Given the description of an element on the screen output the (x, y) to click on. 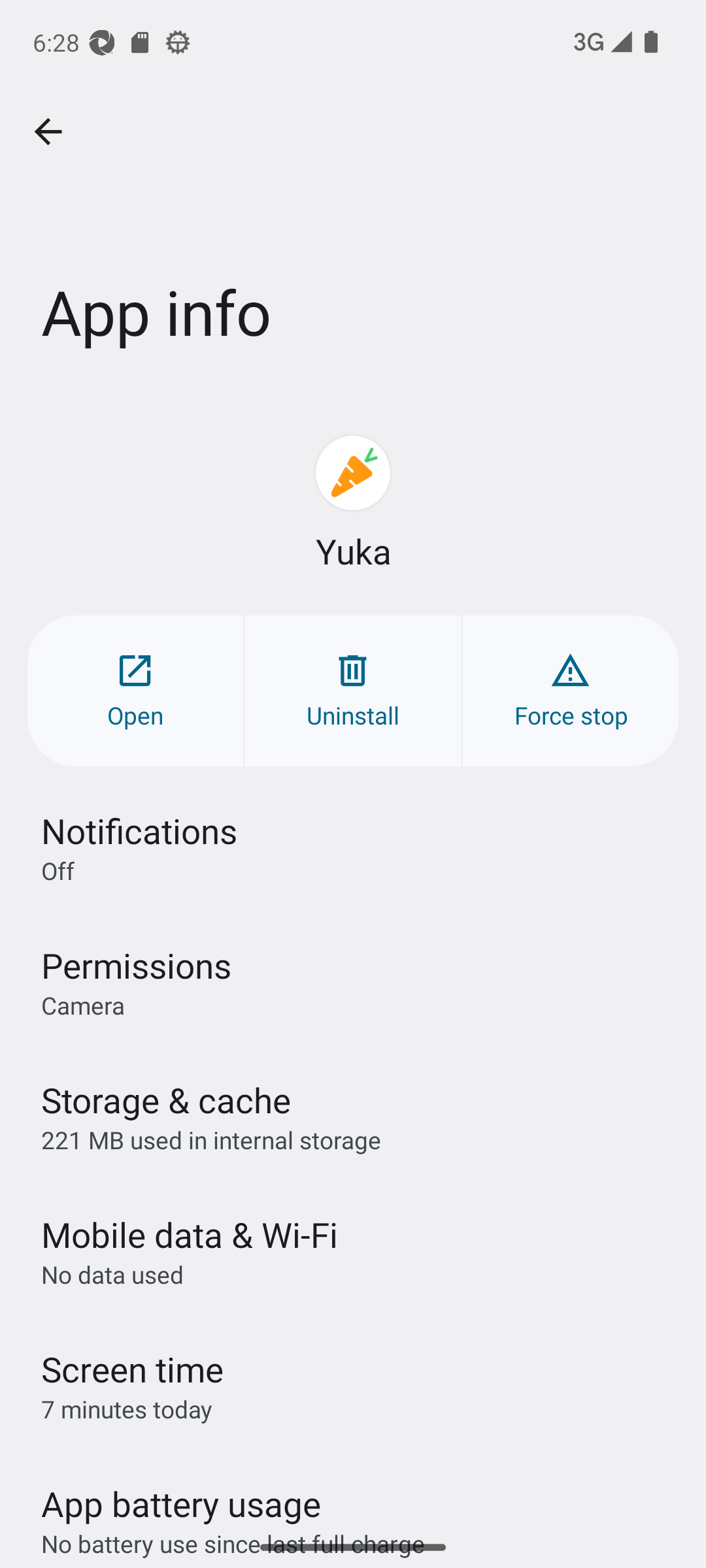
Navigate up (48, 131)
Open (134, 690)
Uninstall (352, 690)
Force stop (570, 690)
Notifications Off (353, 847)
Permissions Camera (353, 981)
Storage & cache 221 MB used in internal storage (353, 1115)
Mobile data & Wi‑Fi No data used (353, 1250)
Screen time 7 minutes today (353, 1385)
